Given the description of an element on the screen output the (x, y) to click on. 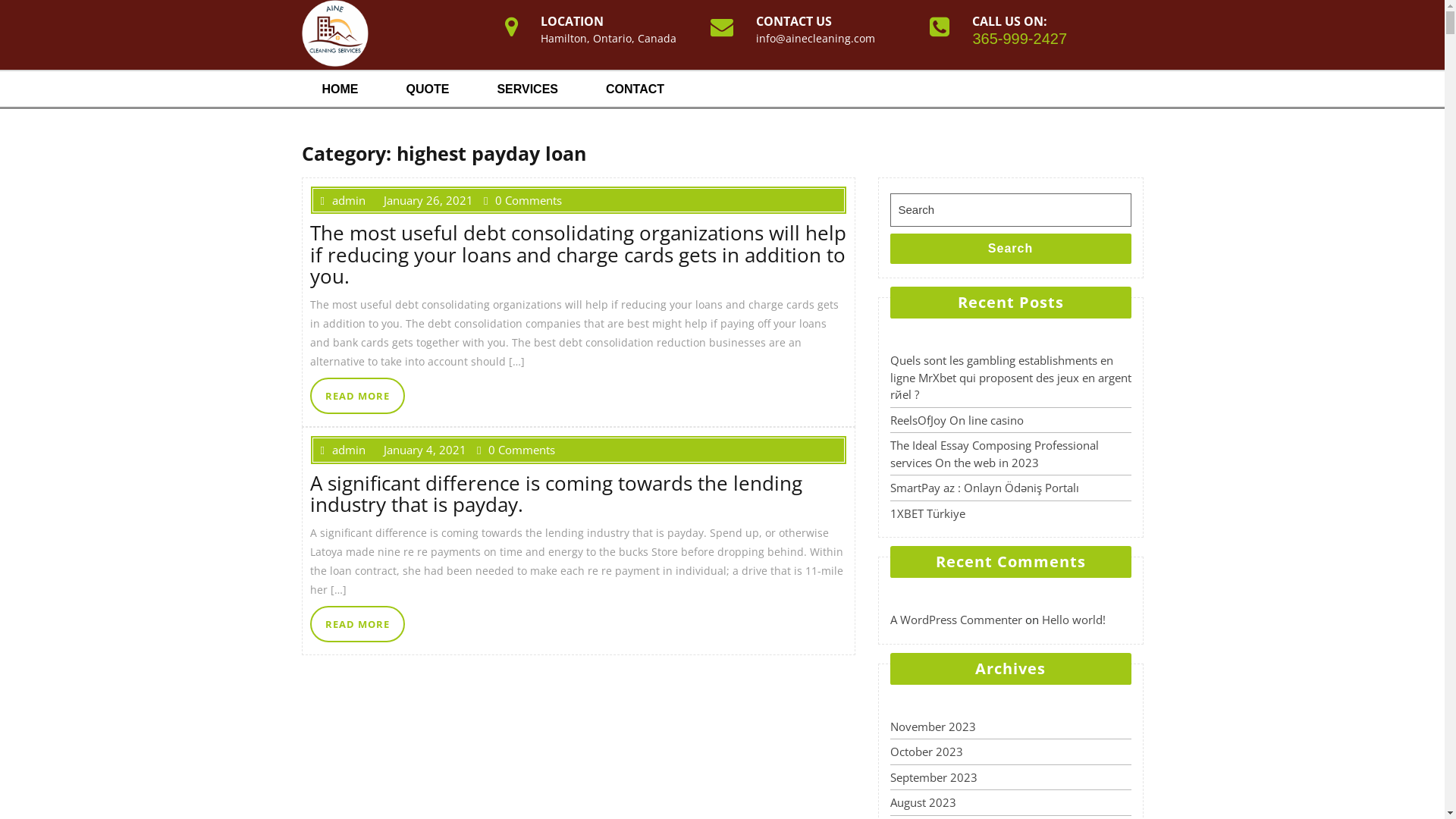
ReelsOfJoy On line casino Element type: text (956, 419)
HOME Element type: text (341, 88)
November 2023 Element type: text (932, 726)
Hello world! Element type: text (1073, 619)
August 2023 Element type: text (923, 801)
September 2023 Element type: text (933, 776)
QUOTE Element type: text (429, 88)
READ MORE Element type: text (356, 623)
SERVICES Element type: text (529, 88)
READ MORE Element type: text (356, 395)
Search Element type: text (1010, 248)
CONTACT Element type: text (636, 88)
A WordPress Commenter Element type: text (956, 619)
October 2023 Element type: text (926, 751)
